Given the description of an element on the screen output the (x, y) to click on. 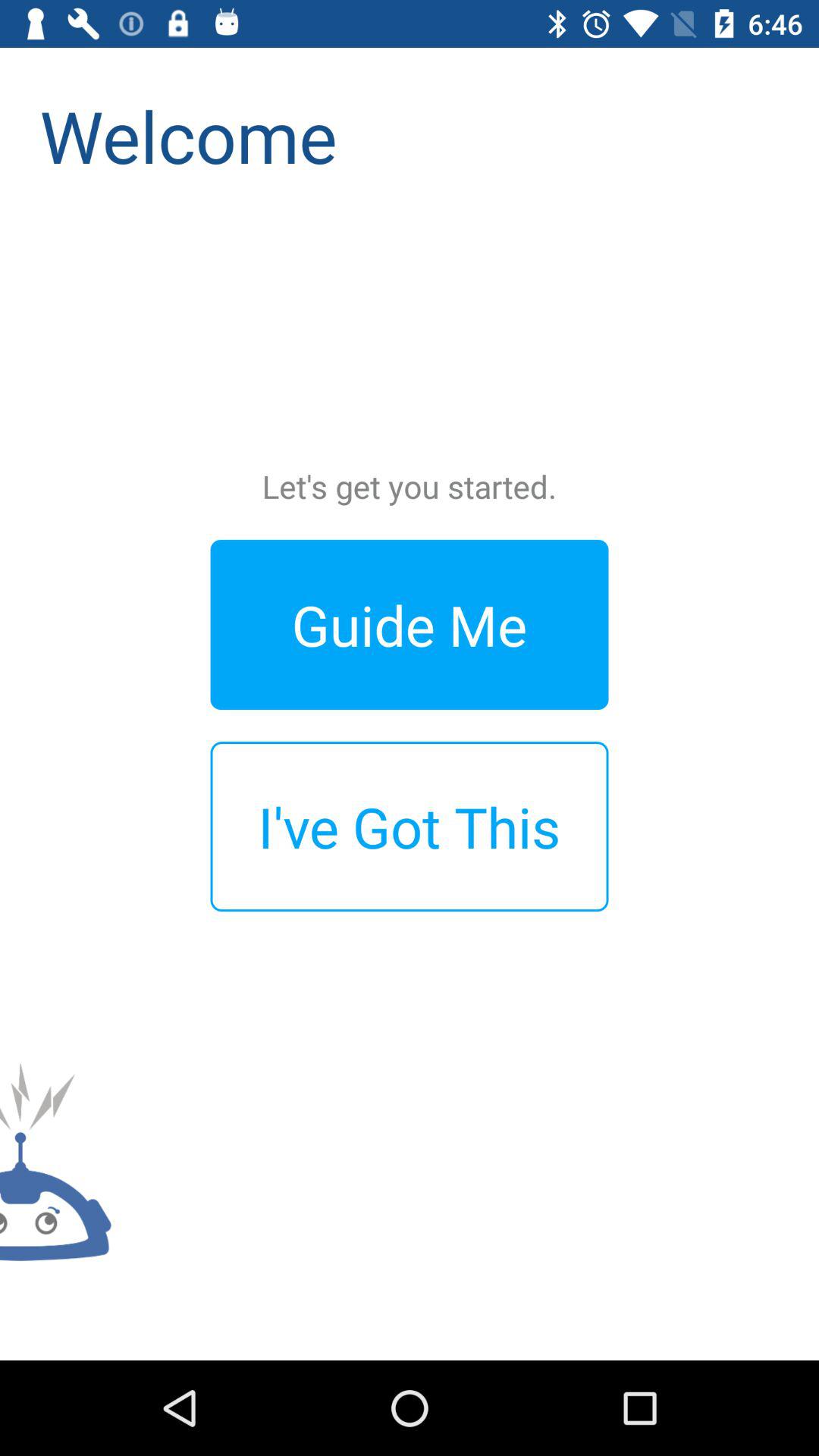
open item above i ve got button (409, 624)
